Given the description of an element on the screen output the (x, y) to click on. 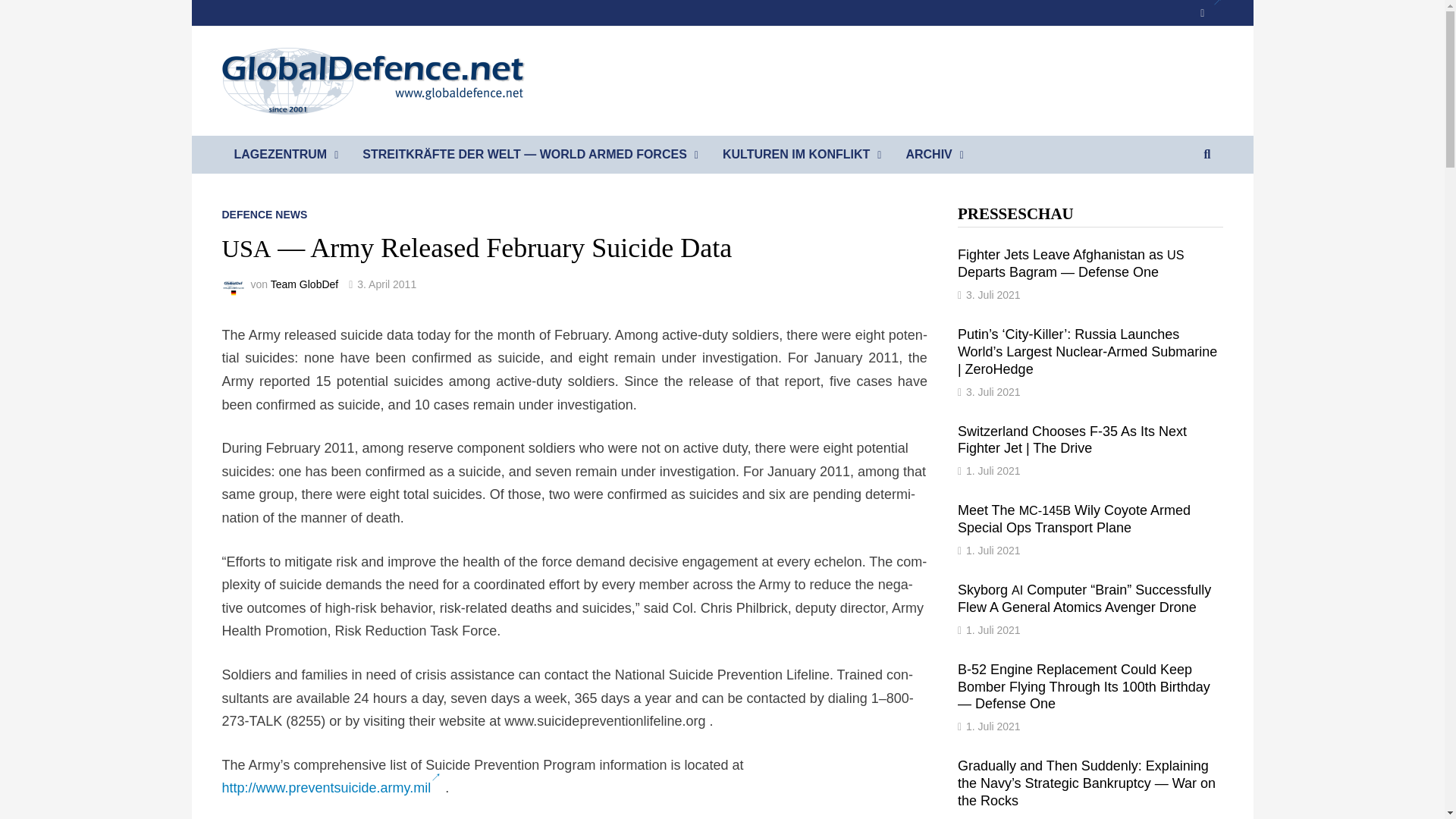
LAGEZENTRUM (285, 154)
ARCHIV (934, 154)
RSS (1209, 11)
KULTUREN IM KONFLIKT (801, 154)
